Given the description of an element on the screen output the (x, y) to click on. 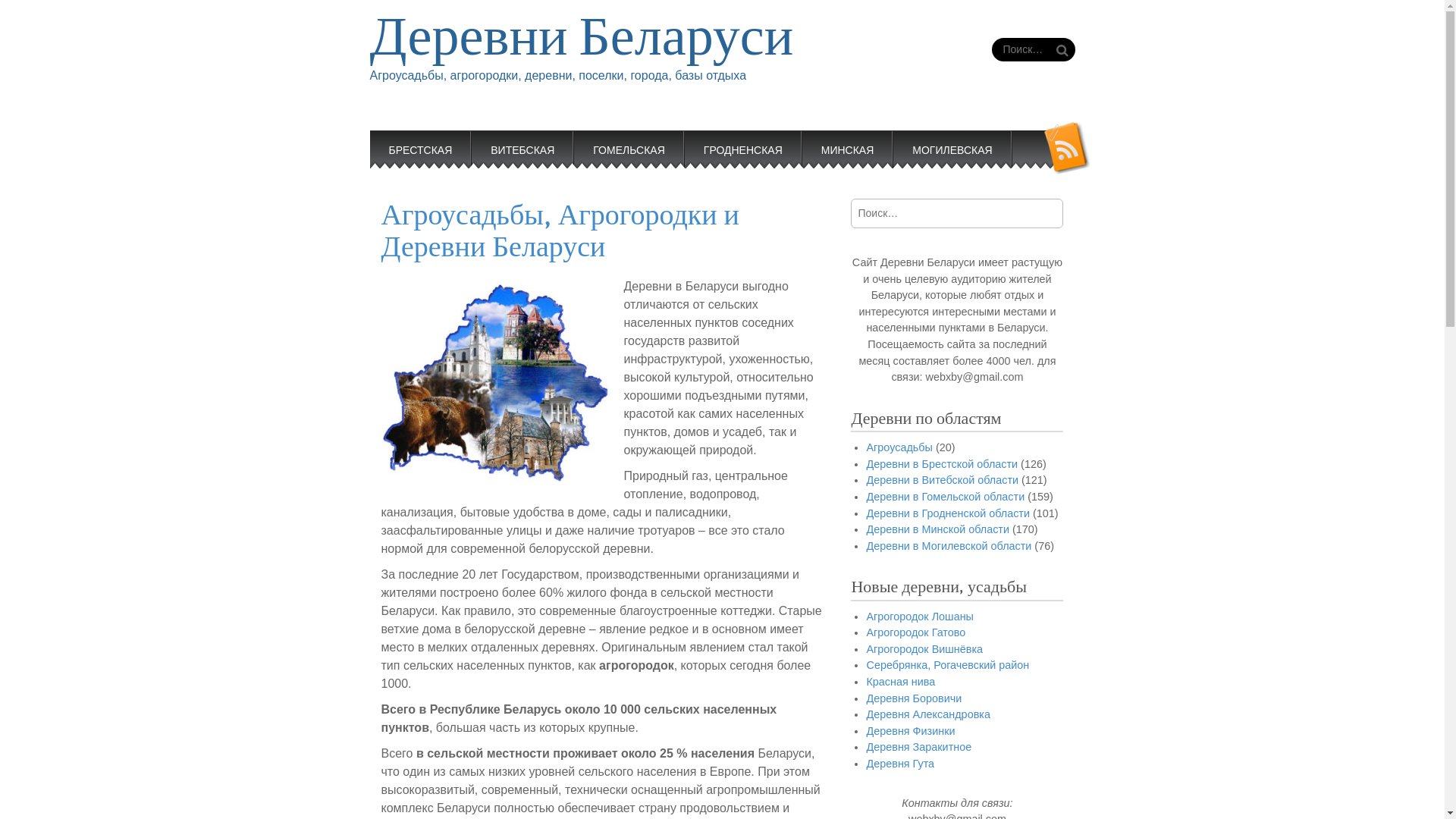
Skip to content Element type: text (410, 139)
